Given the description of an element on the screen output the (x, y) to click on. 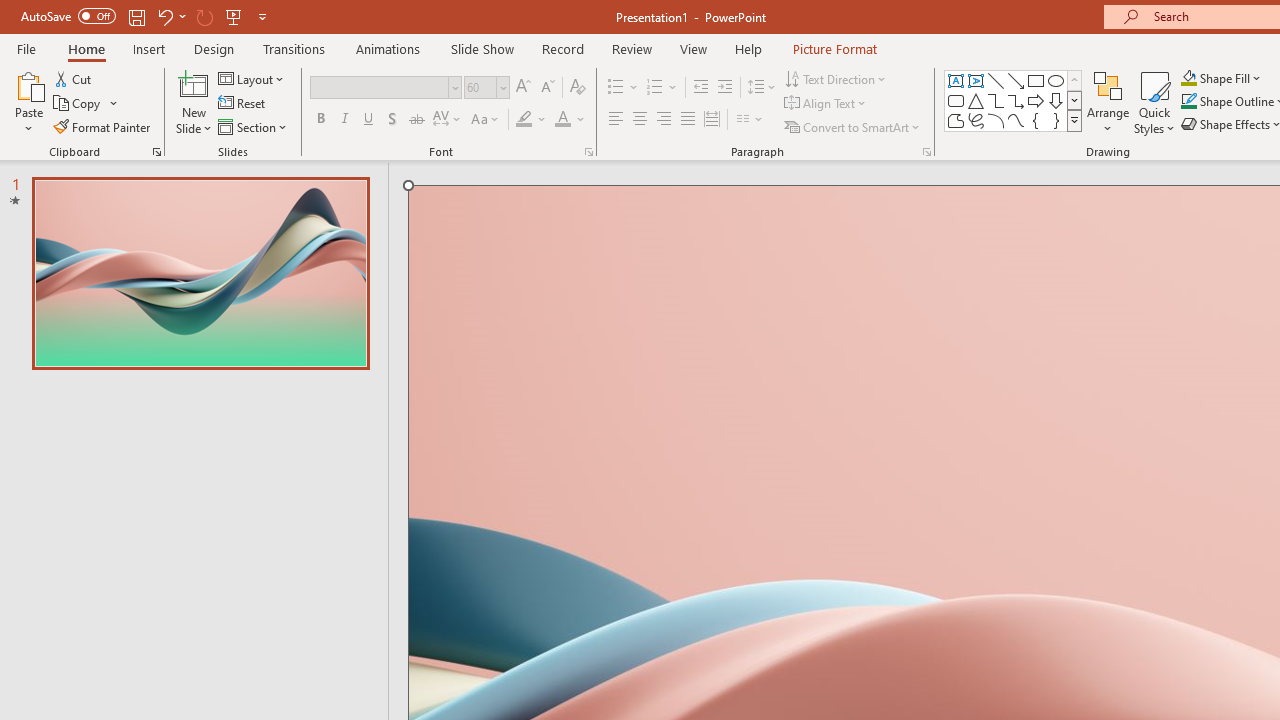
Picture Format (834, 48)
